Given the description of an element on the screen output the (x, y) to click on. 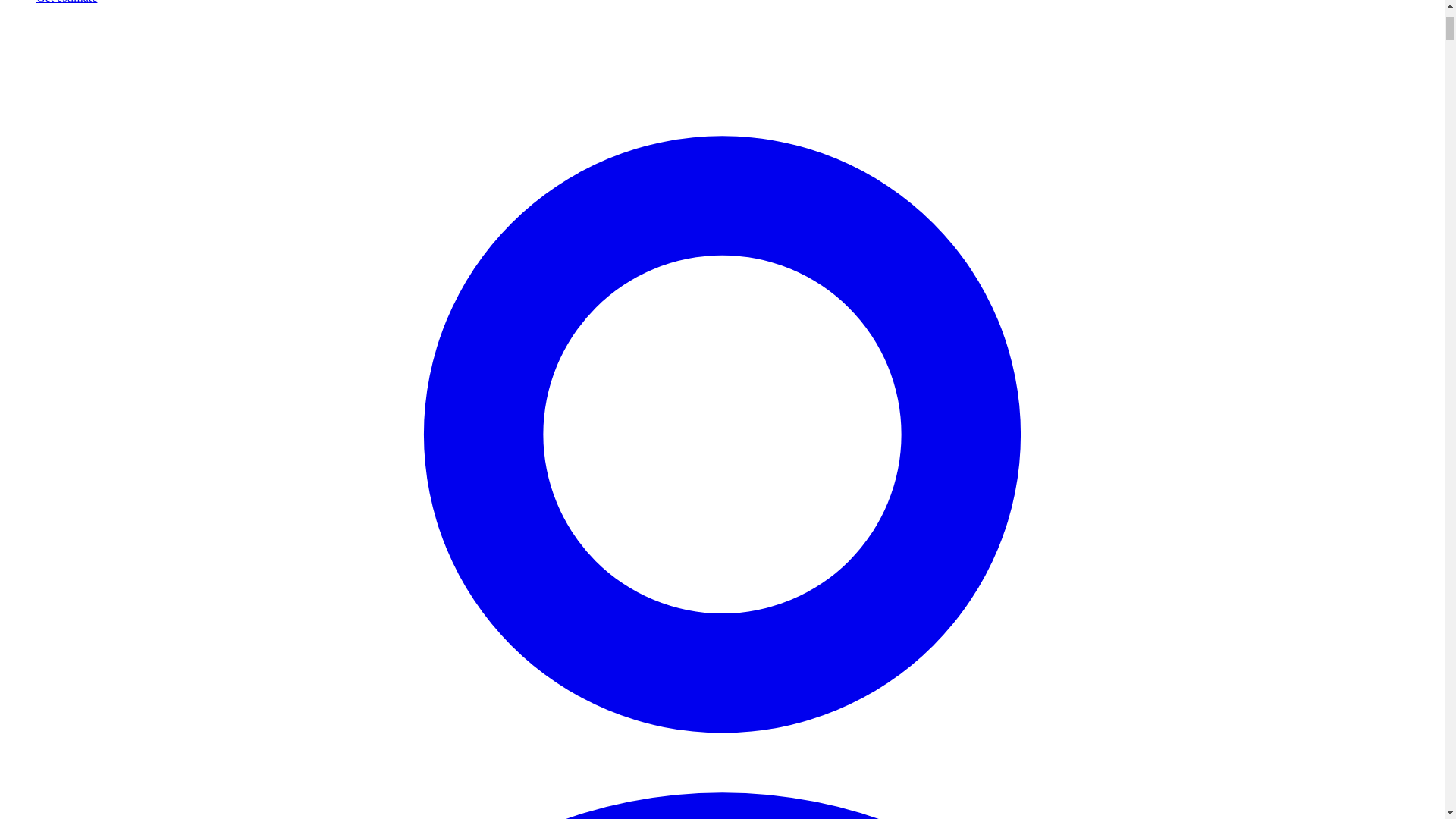
Get estimate (66, 2)
